Given the description of an element on the screen output the (x, y) to click on. 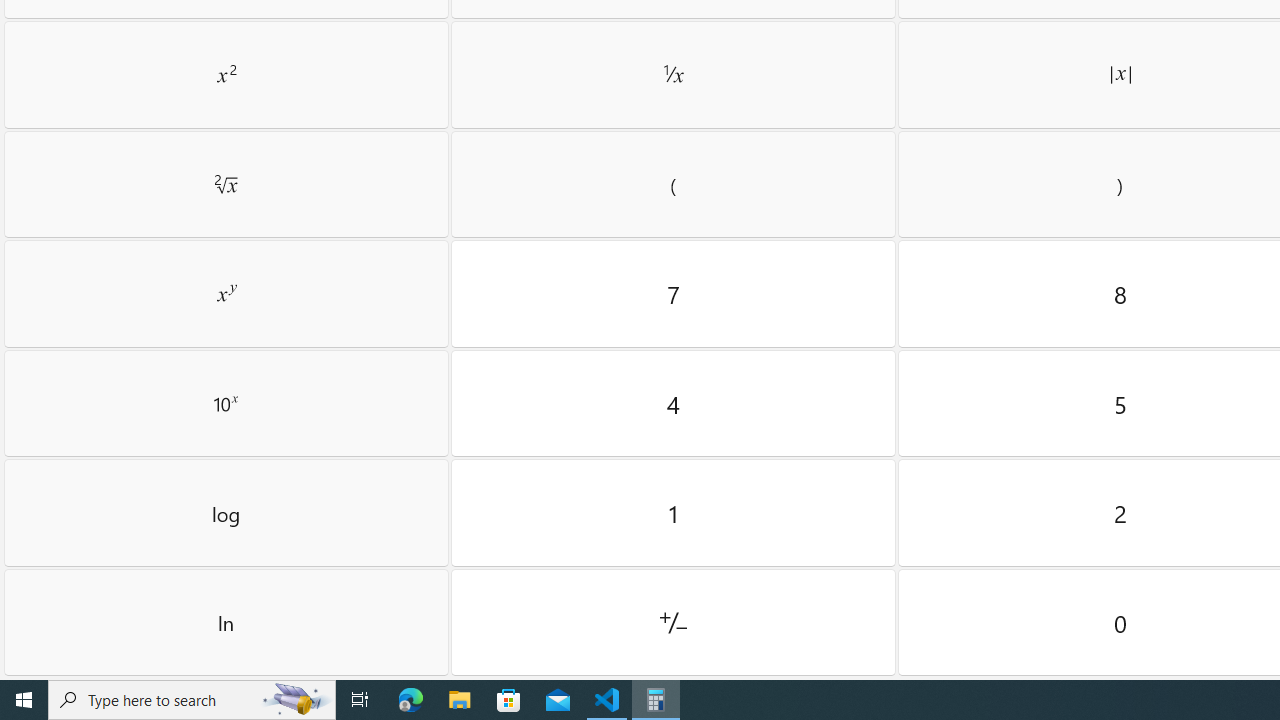
Task View (359, 699)
Microsoft Store (509, 699)
Four (673, 403)
Positive negative (673, 622)
File Explorer (460, 699)
Search highlights icon opens search home window (295, 699)
'X' to the exponent (226, 293)
Square root (226, 184)
Seven (673, 293)
Visual Studio Code - 1 running window (607, 699)
Left parenthesis (673, 184)
Reciprocal (673, 74)
Log (226, 513)
Square (226, 74)
